Given the description of an element on the screen output the (x, y) to click on. 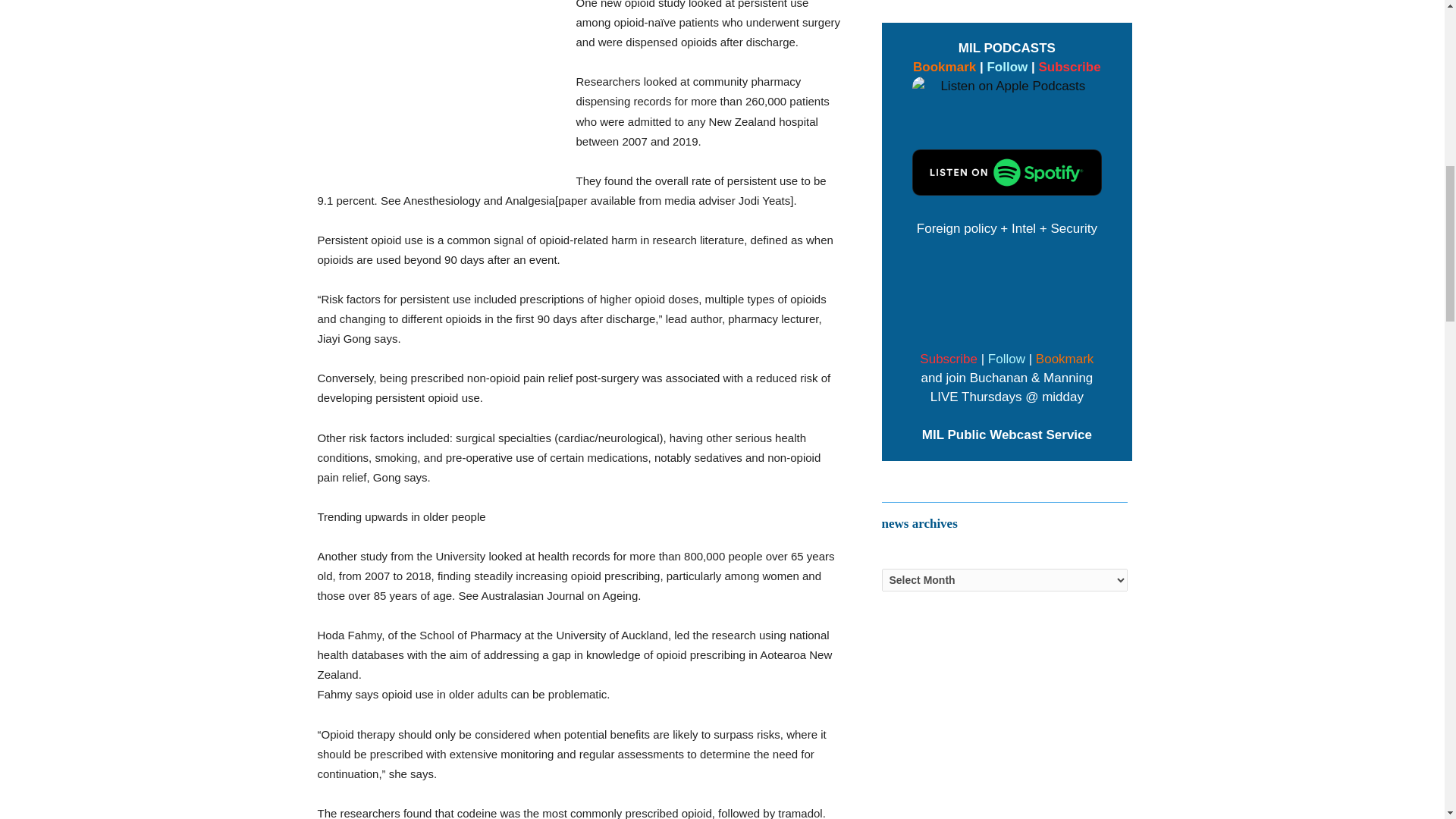
YouTube video player (1007, 291)
3rd party ad content (438, 81)
